Given the description of an element on the screen output the (x, y) to click on. 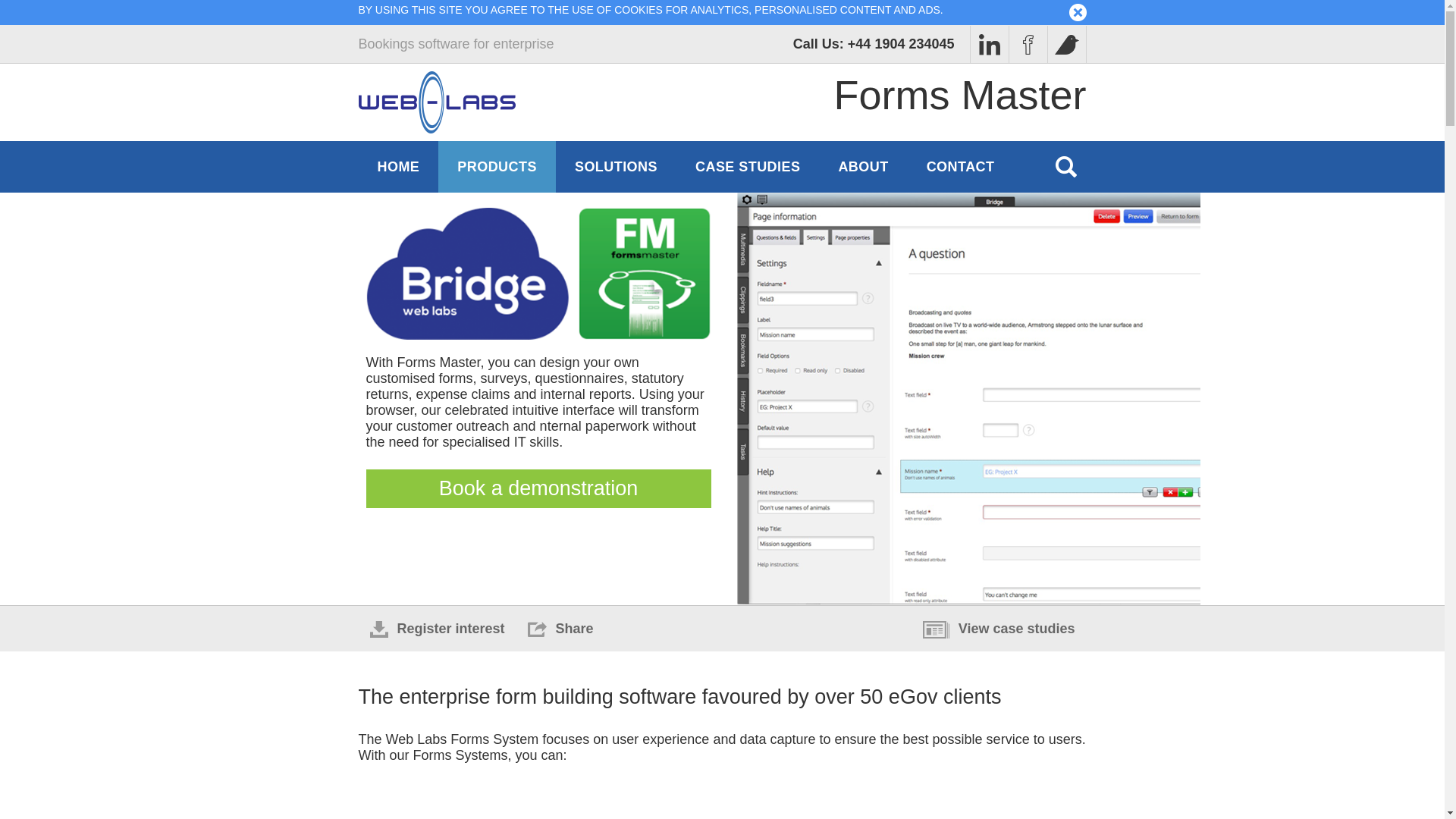
PRODUCTS (497, 166)
CASE STUDIES (747, 166)
CONTACT (960, 166)
SOLUTIONS (616, 166)
home page (436, 102)
Facebook (988, 44)
ABOUT (862, 166)
Facebook (1027, 44)
Web Labs (436, 102)
Twitter (1066, 44)
